Given the description of an element on the screen output the (x, y) to click on. 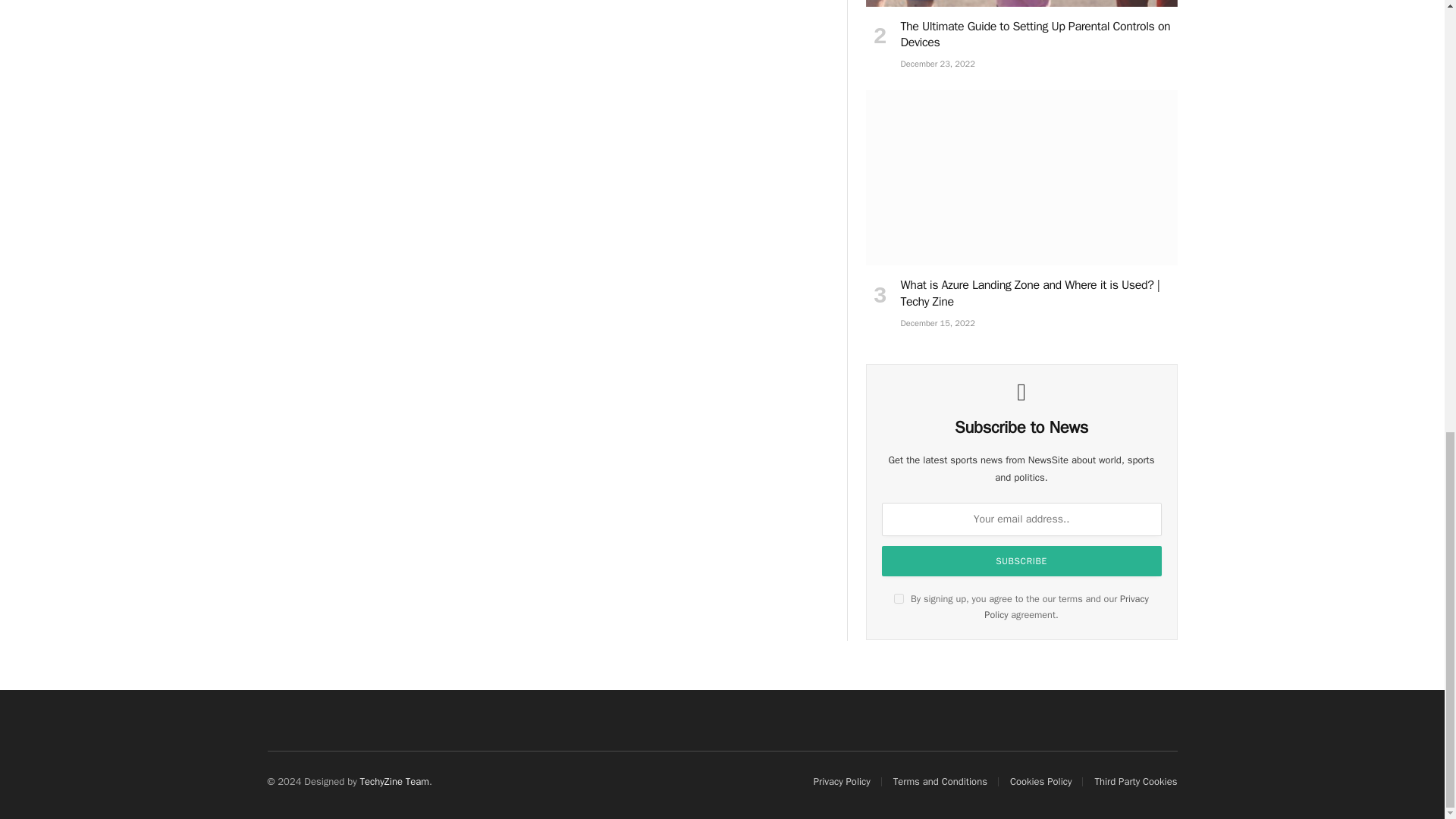
on (898, 598)
Subscribe (1021, 561)
Privacy Policy (1066, 606)
Subscribe (1021, 561)
TechyZine Team (394, 780)
